Given the description of an element on the screen output the (x, y) to click on. 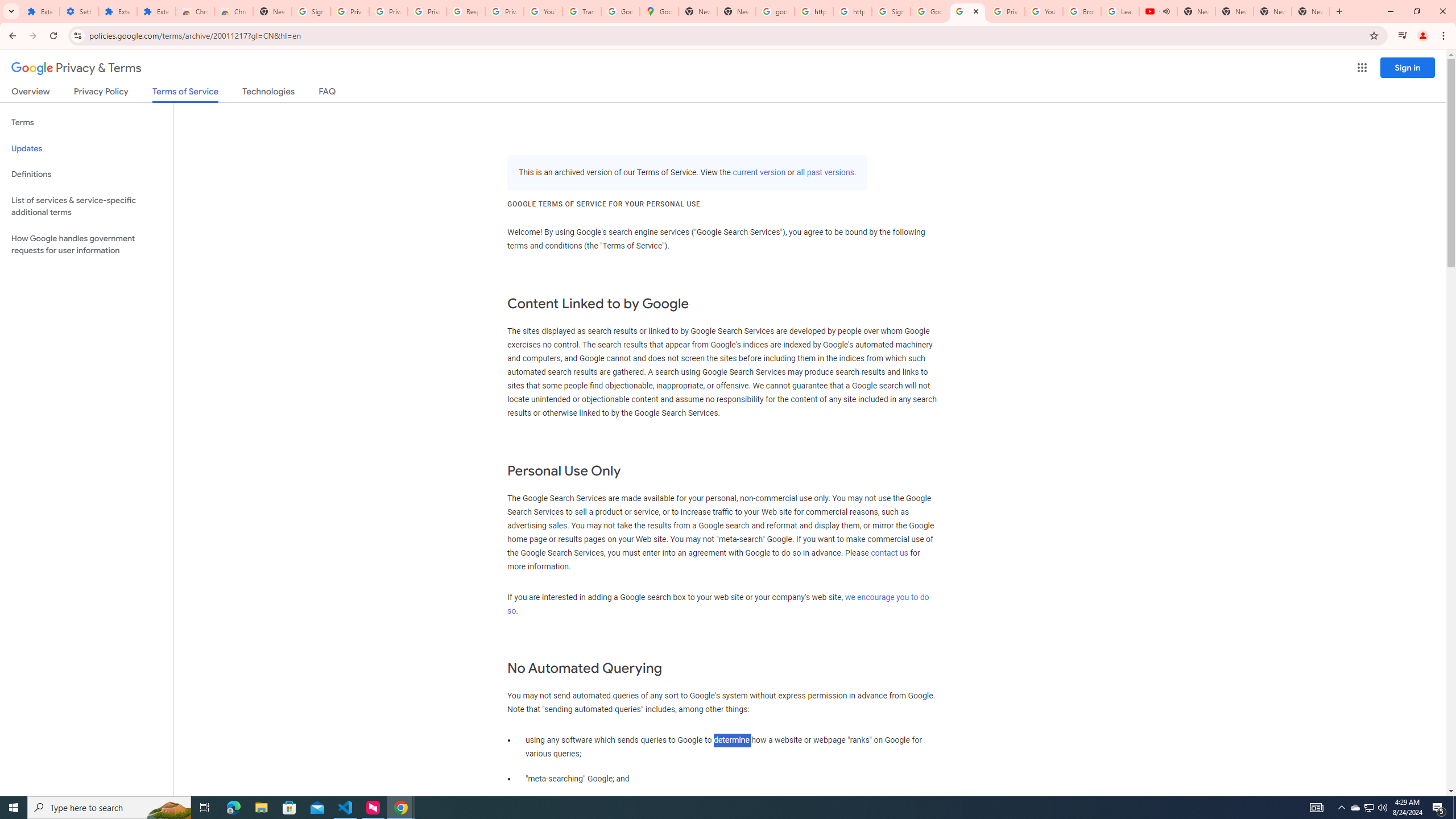
all past versions (825, 172)
we encourage you to do so (717, 603)
Extensions (40, 11)
How Google handles government requests for user information (86, 244)
Sign in - Google Accounts (890, 11)
